Given the description of an element on the screen output the (x, y) to click on. 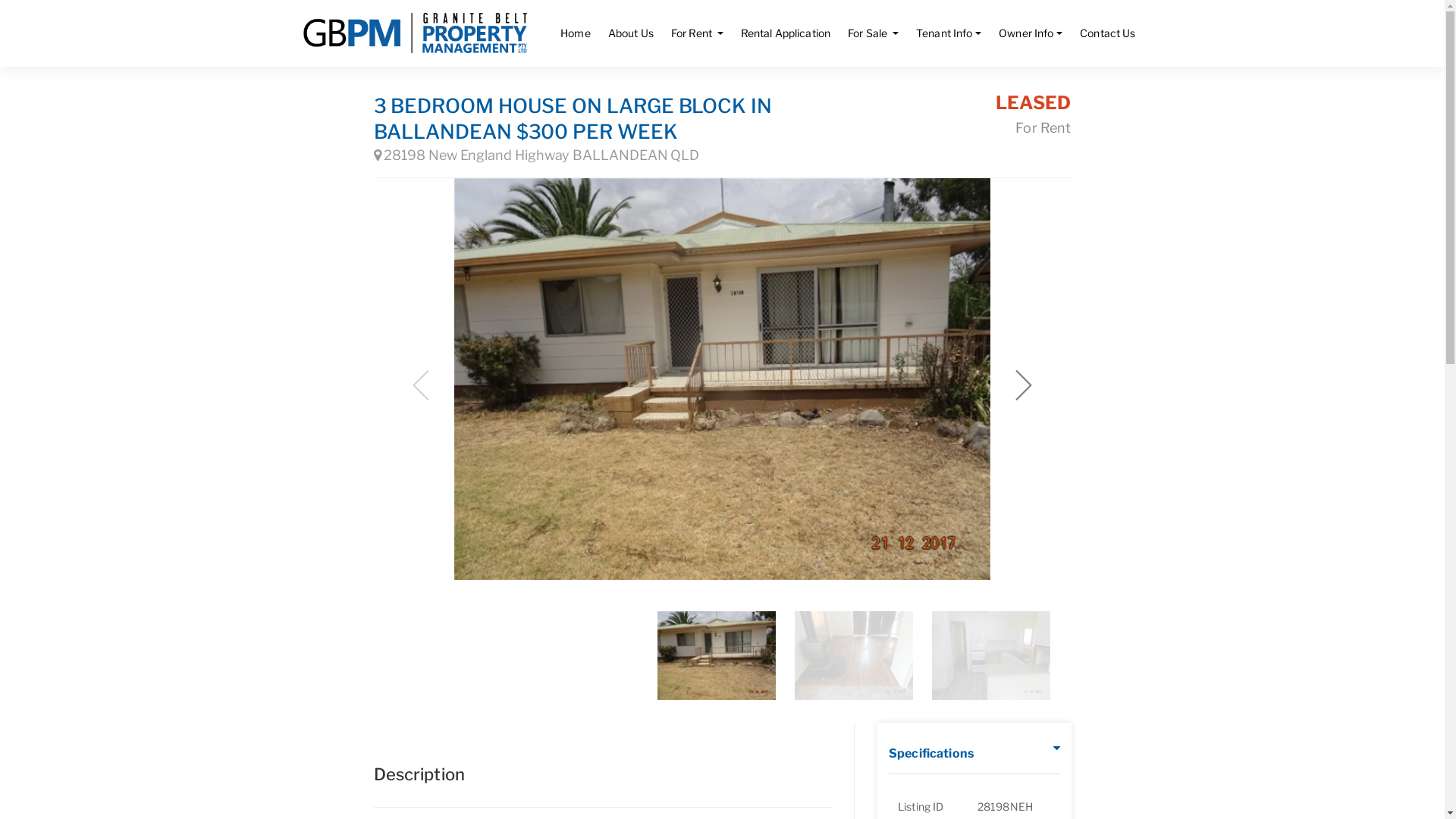
Owner Info Element type: text (1030, 33)
Specifications Element type: text (930, 753)
For Rent Element type: text (697, 33)
About Us Element type: text (630, 33)
Contact Us Element type: text (1107, 33)
Tenant Info Element type: text (948, 33)
Rental Application Element type: text (785, 33)
For Sale Element type: text (873, 33)
Home Element type: text (575, 33)
